Given the description of an element on the screen output the (x, y) to click on. 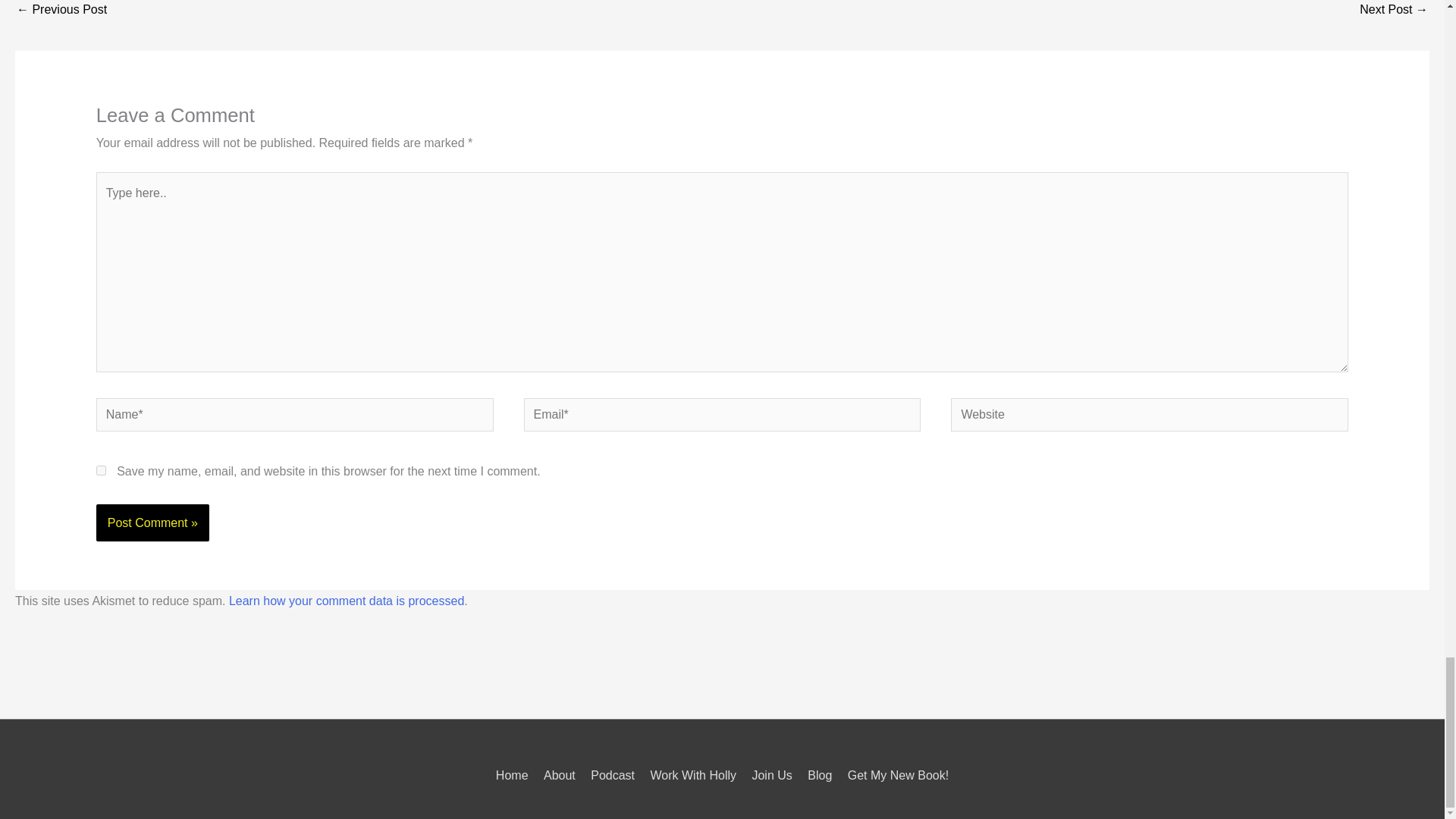
Podcast (612, 775)
Learn how your comment data is processed (346, 600)
Home (515, 775)
yes (101, 470)
About (558, 775)
